Given the description of an element on the screen output the (x, y) to click on. 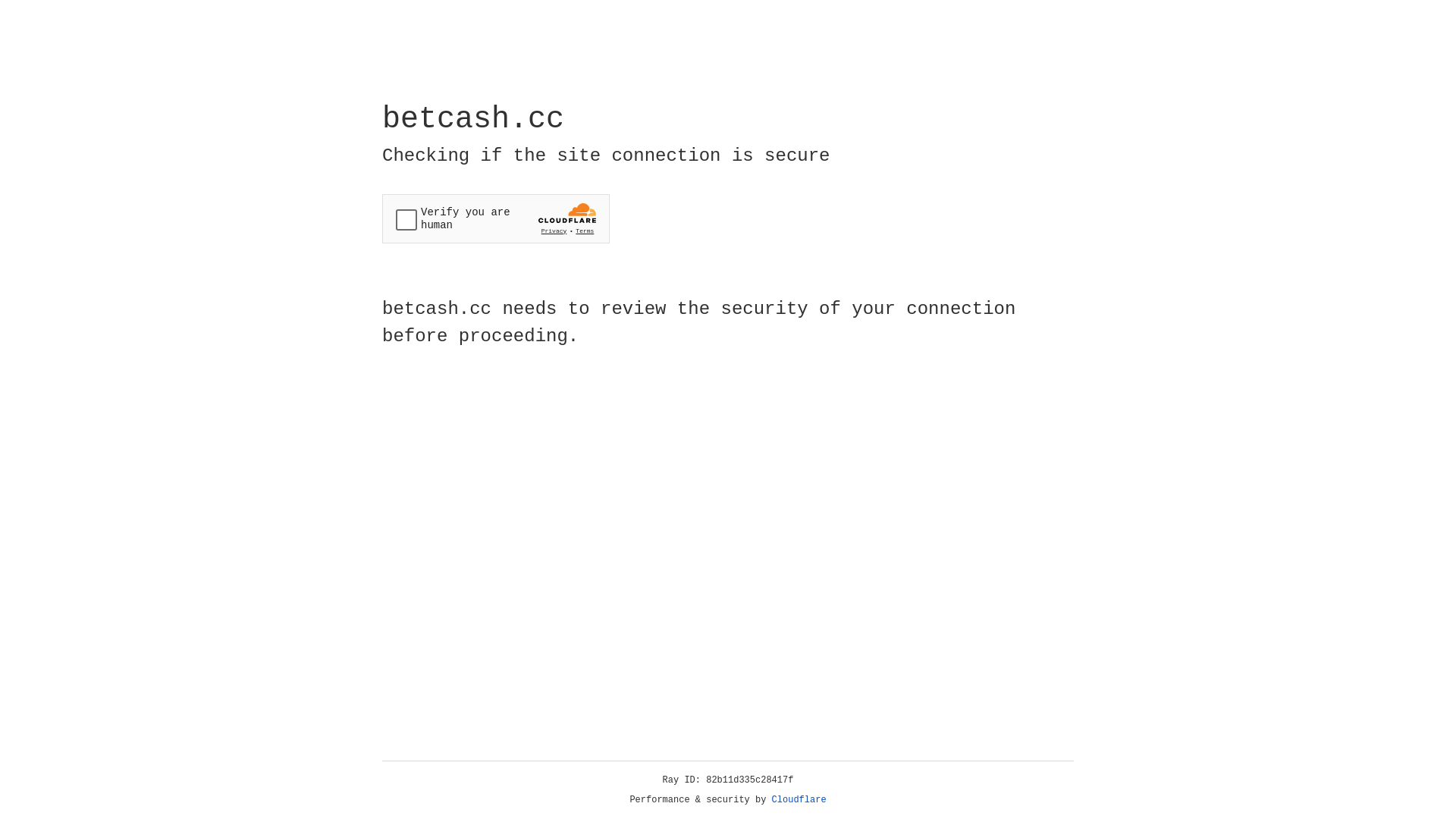
Cloudflare Element type: text (798, 799)
Widget containing a Cloudflare security challenge Element type: hover (495, 218)
